Given the description of an element on the screen output the (x, y) to click on. 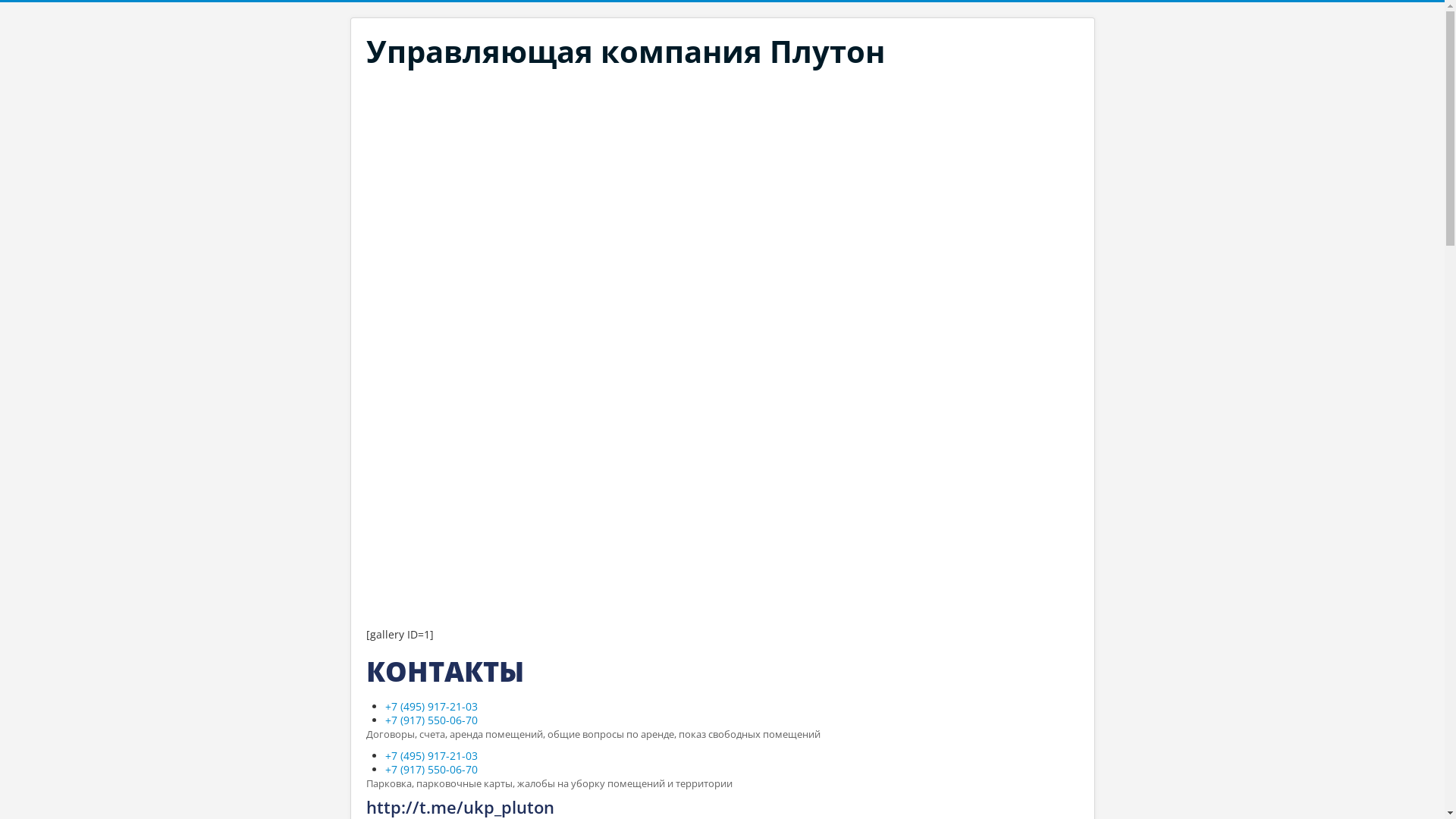
+7 (495) 917-21-03 Element type: text (431, 755)
+7 (917) 550-06-70 Element type: text (431, 769)
+7 (495) 917-21-03 Element type: text (431, 706)
+7 (917) 550-06-70 Element type: text (431, 719)
http://t.me/ukp_pluton Element type: text (721, 806)
